Given the description of an element on the screen output the (x, y) to click on. 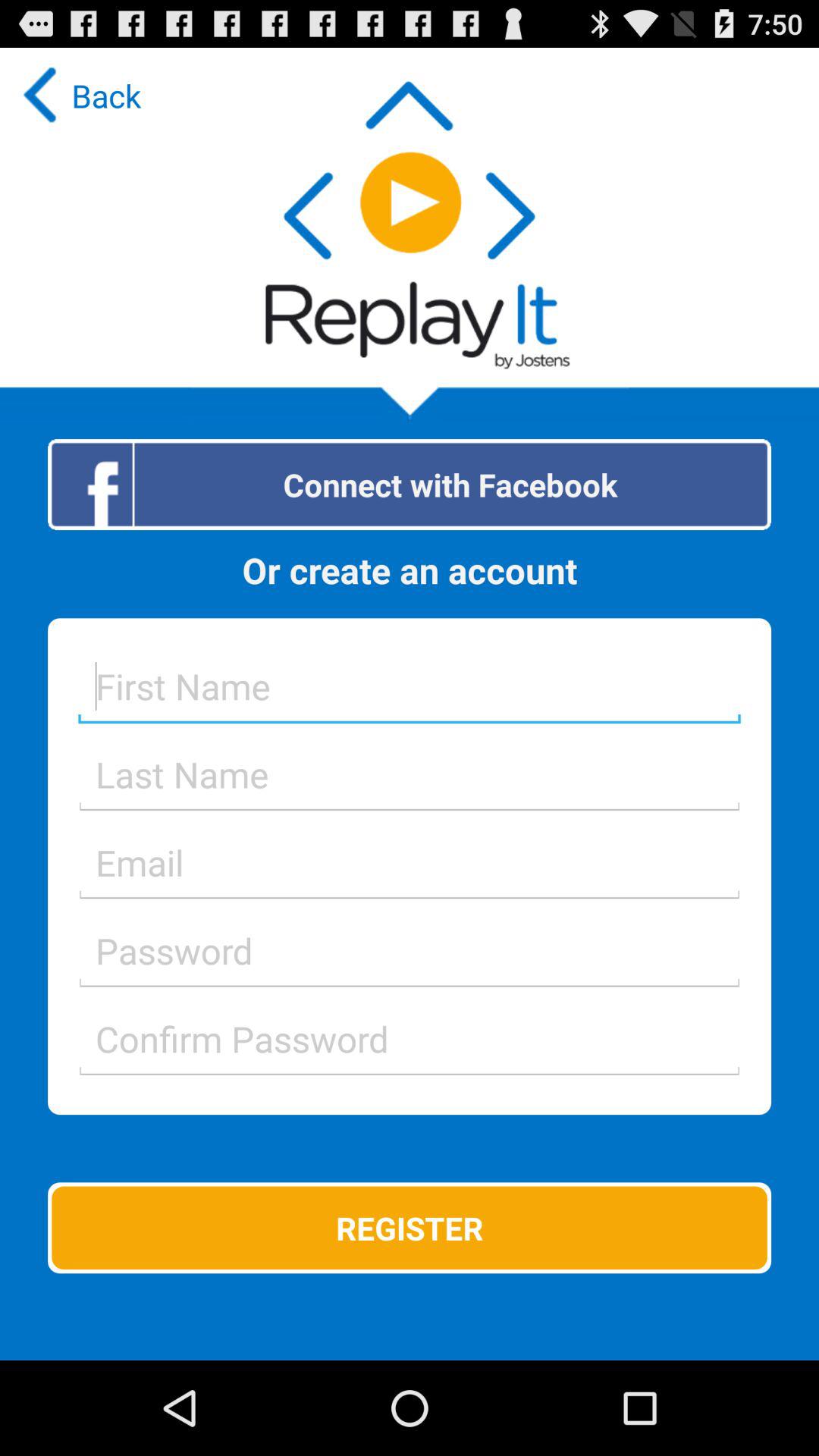
email (409, 862)
